Given the description of an element on the screen output the (x, y) to click on. 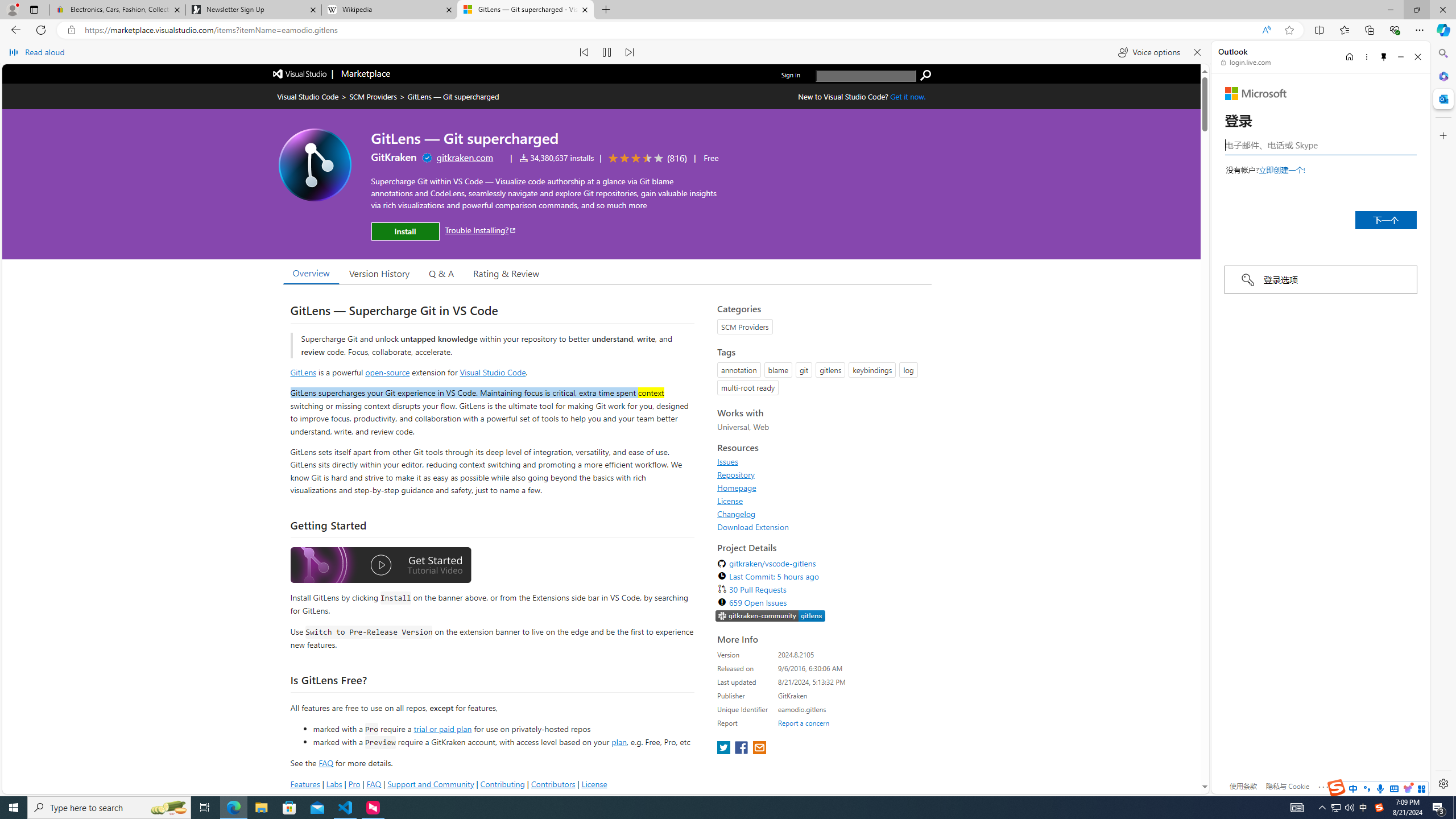
share extension on facebook (742, 748)
Support and Community (430, 783)
Visual Studio logo (300, 72)
